Given the description of an element on the screen output the (x, y) to click on. 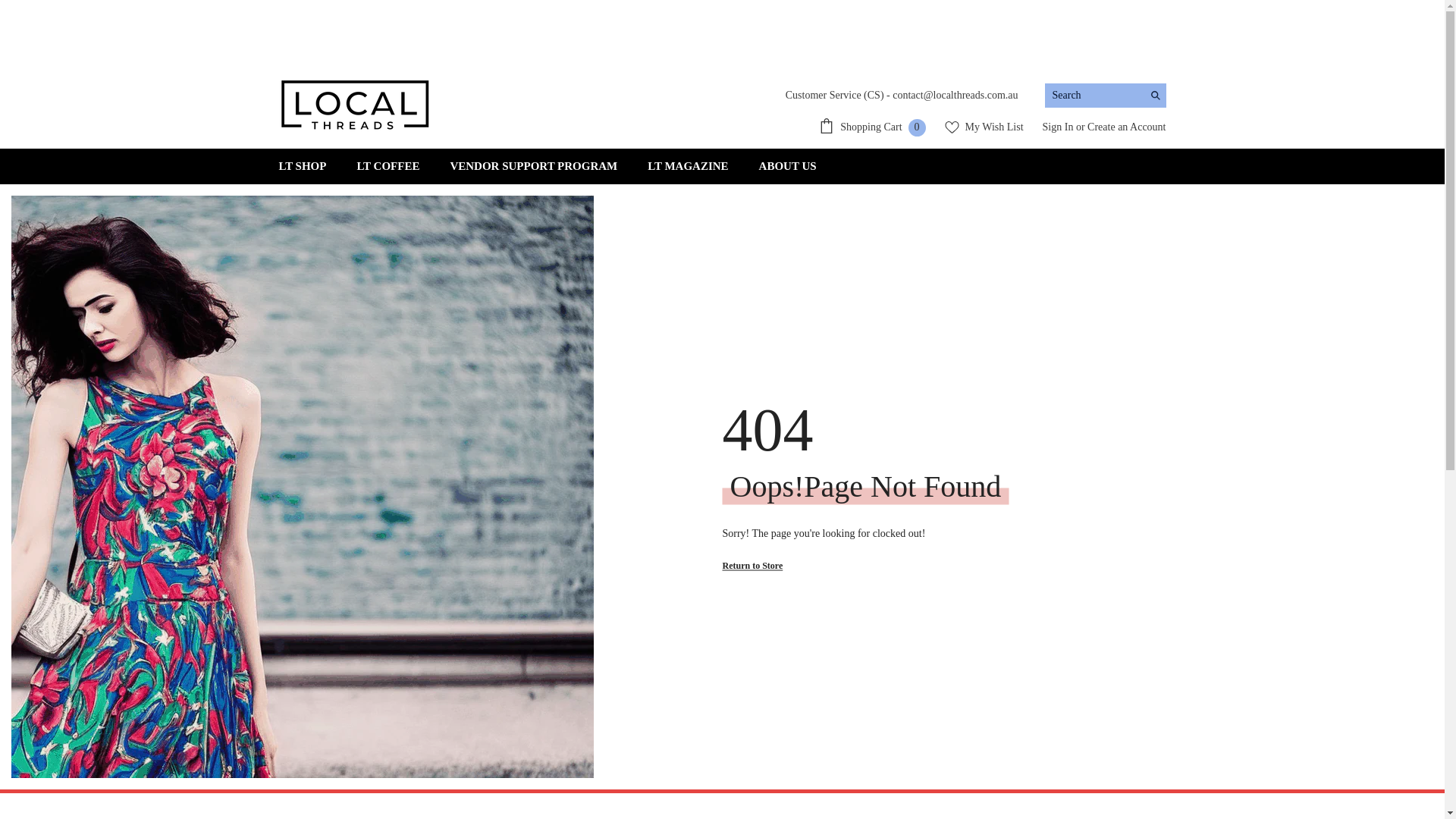
ABOUT US Element type: text (787, 166)
Create an Account Element type: text (1126, 126)
Return to Store Element type: text (751, 565)
Shopping Cart 0
0 items Element type: text (872, 127)
LT COFFEE Element type: text (387, 166)
Sign In Element type: text (1059, 126)
LT SHOP Element type: text (302, 166)
LT MAGAZINE Element type: text (687, 166)
My Wish List Element type: text (983, 127)
VENDOR SUPPORT PROGRAM Element type: text (533, 166)
